Given the description of an element on the screen output the (x, y) to click on. 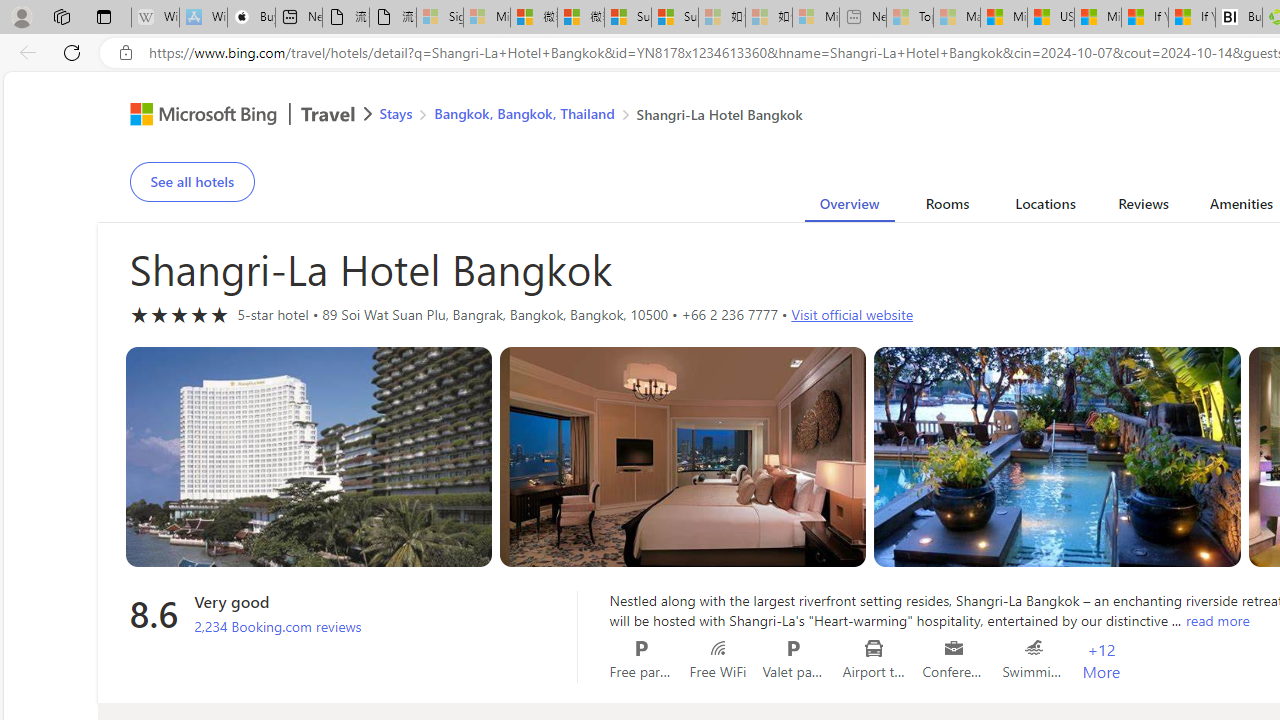
5-star hotel  (179, 314)
Valet parking (793, 647)
